Given the description of an element on the screen output the (x, y) to click on. 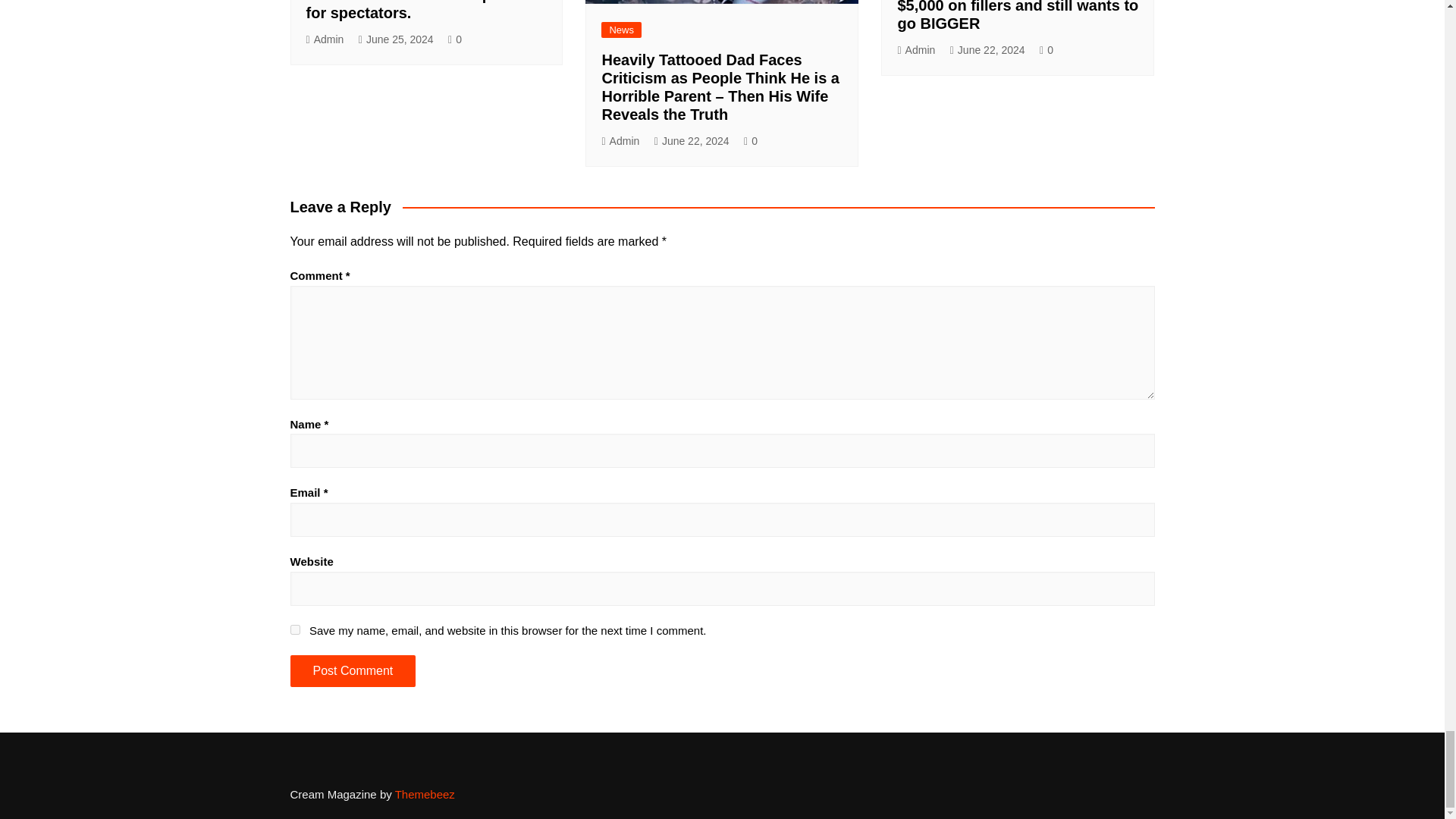
June 25, 2024 (395, 39)
Post Comment (351, 671)
yes (294, 629)
Admin (324, 39)
